Given the description of an element on the screen output the (x, y) to click on. 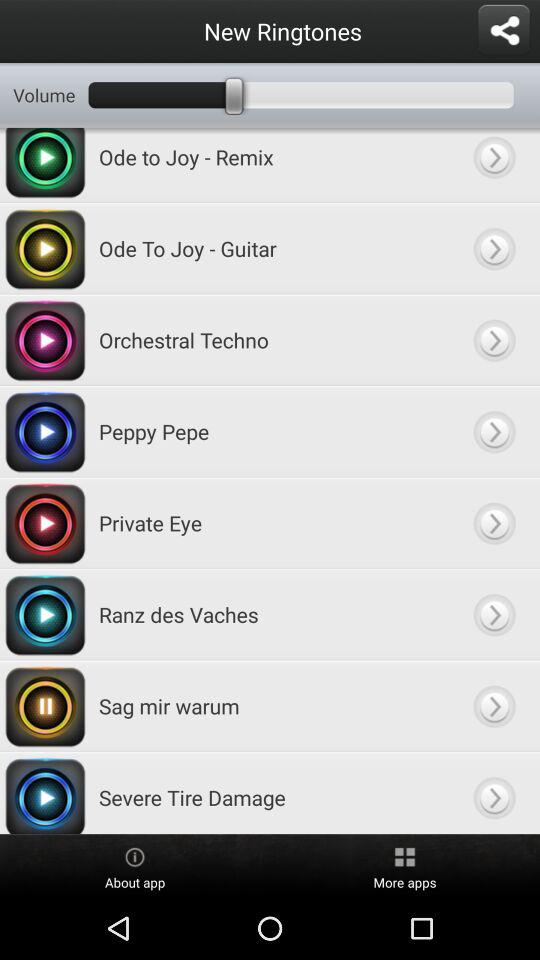
play 'ode to joy remix (494, 164)
